Given the description of an element on the screen output the (x, y) to click on. 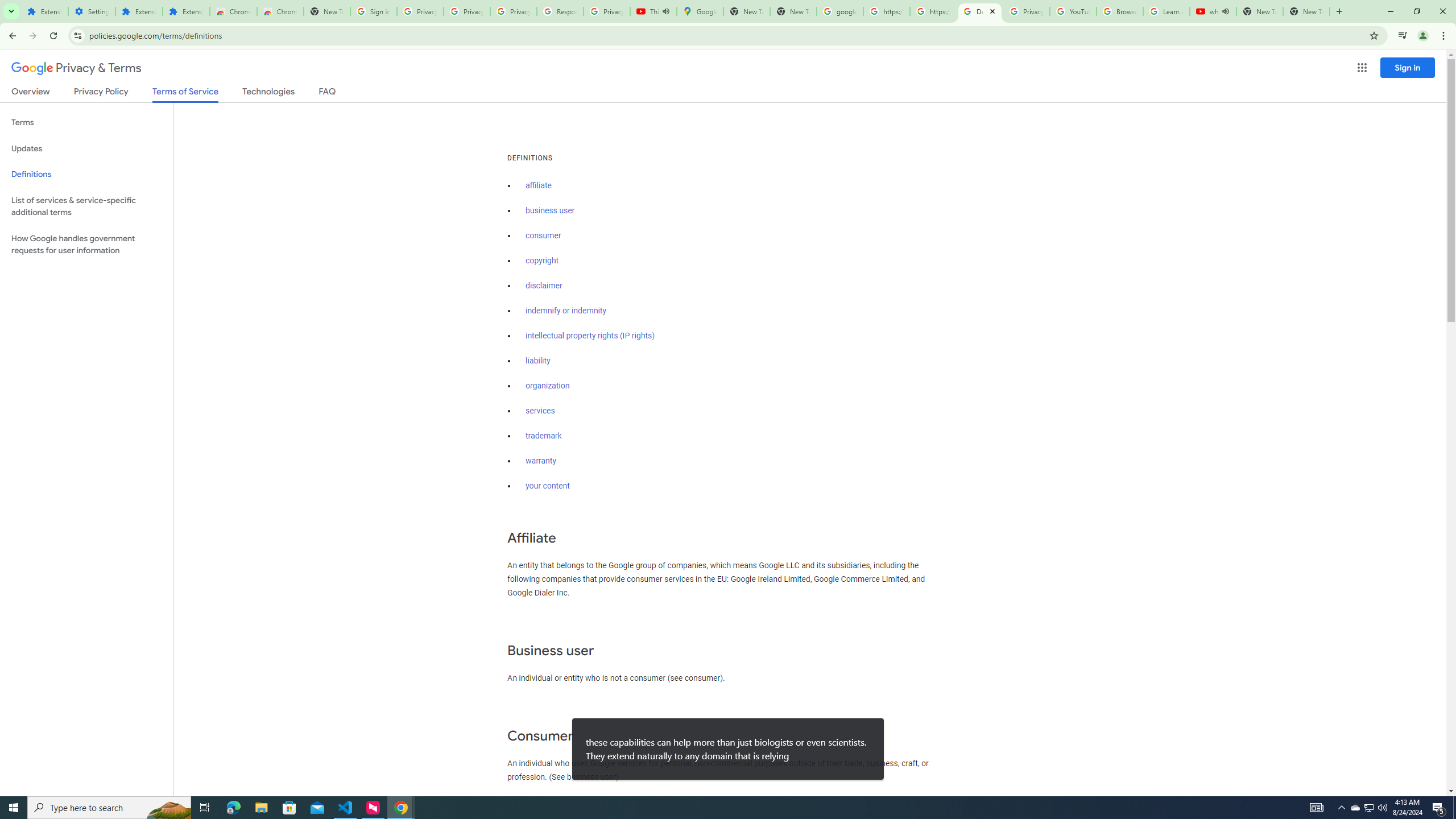
Sign in - Google Accounts (373, 11)
liability (537, 361)
copyright (542, 260)
indemnify or indemnity (565, 311)
Extensions (138, 11)
affiliate (538, 185)
YouTube (1073, 11)
Browse Chrome as a guest - Computer - Google Chrome Help (1120, 11)
services (539, 411)
